Given the description of an element on the screen output the (x, y) to click on. 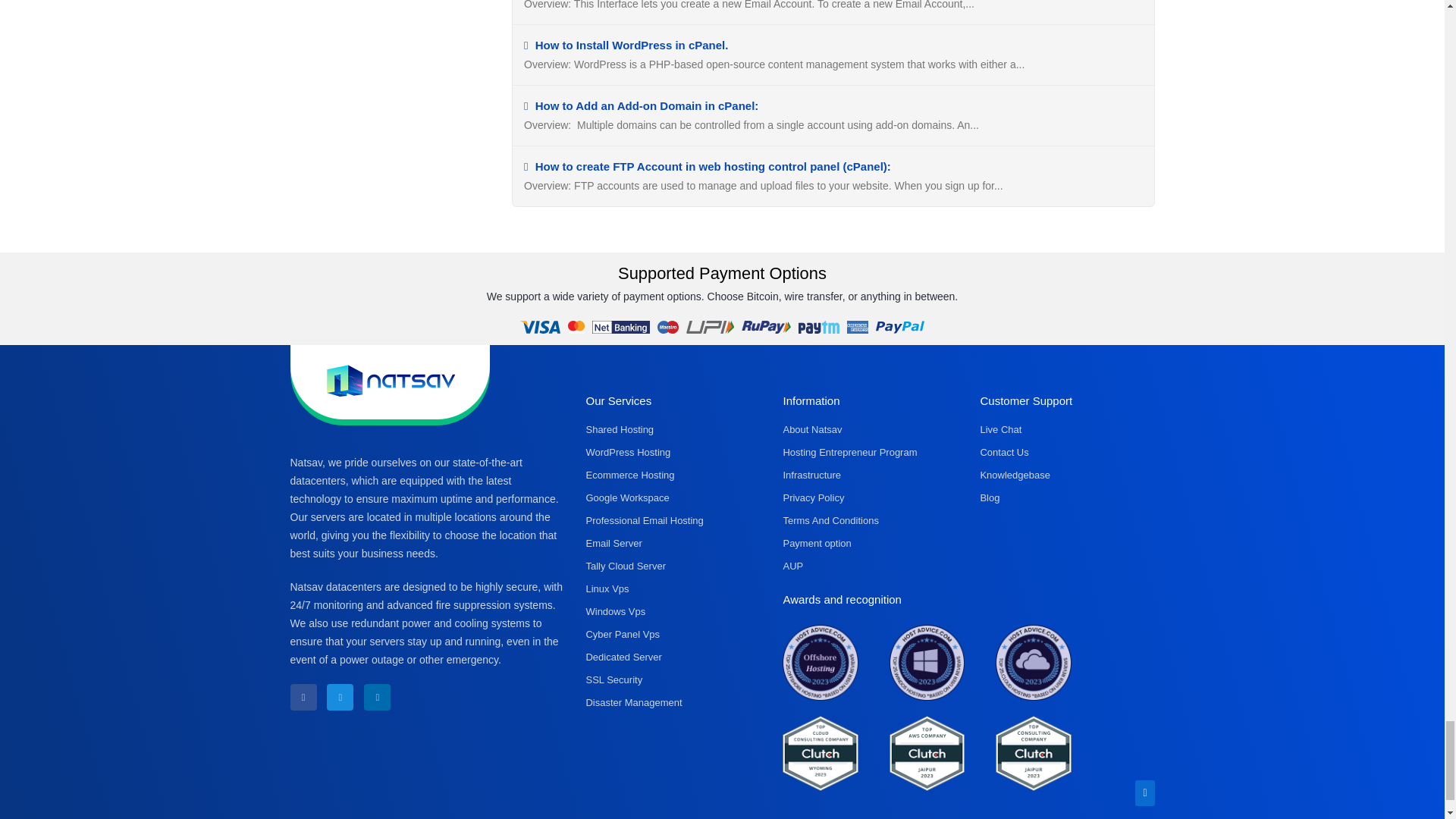
How to Install WordPress in cPanel. (626, 44)
